Given the description of an element on the screen output the (x, y) to click on. 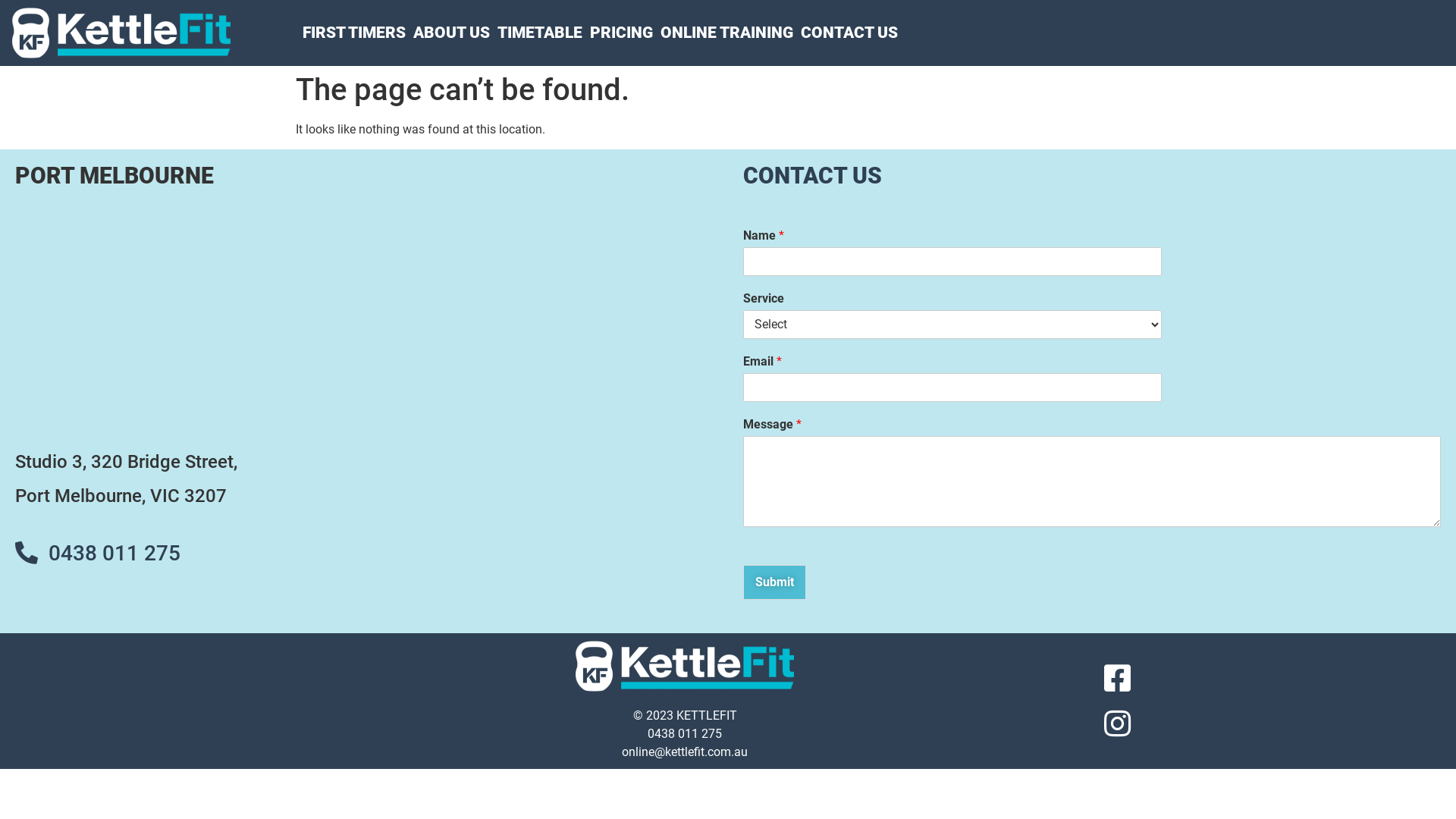
ONLINE TRAINING Element type: text (726, 32)
FIRST TIMERS Element type: text (353, 32)
0438 011 275 Element type: text (114, 552)
online@kettlefit.com.au Element type: text (684, 751)
Submit Element type: text (774, 581)
PRICING Element type: text (621, 32)
Studio 3, 320 Bridge Street Port Melbourne, VIC 3207 Element type: hover (363, 315)
0438 011 275 Element type: text (684, 733)
ABOUT US Element type: text (451, 32)
CONTACT US Element type: text (849, 32)
TIMETABLE Element type: text (539, 32)
